Given the description of an element on the screen output the (x, y) to click on. 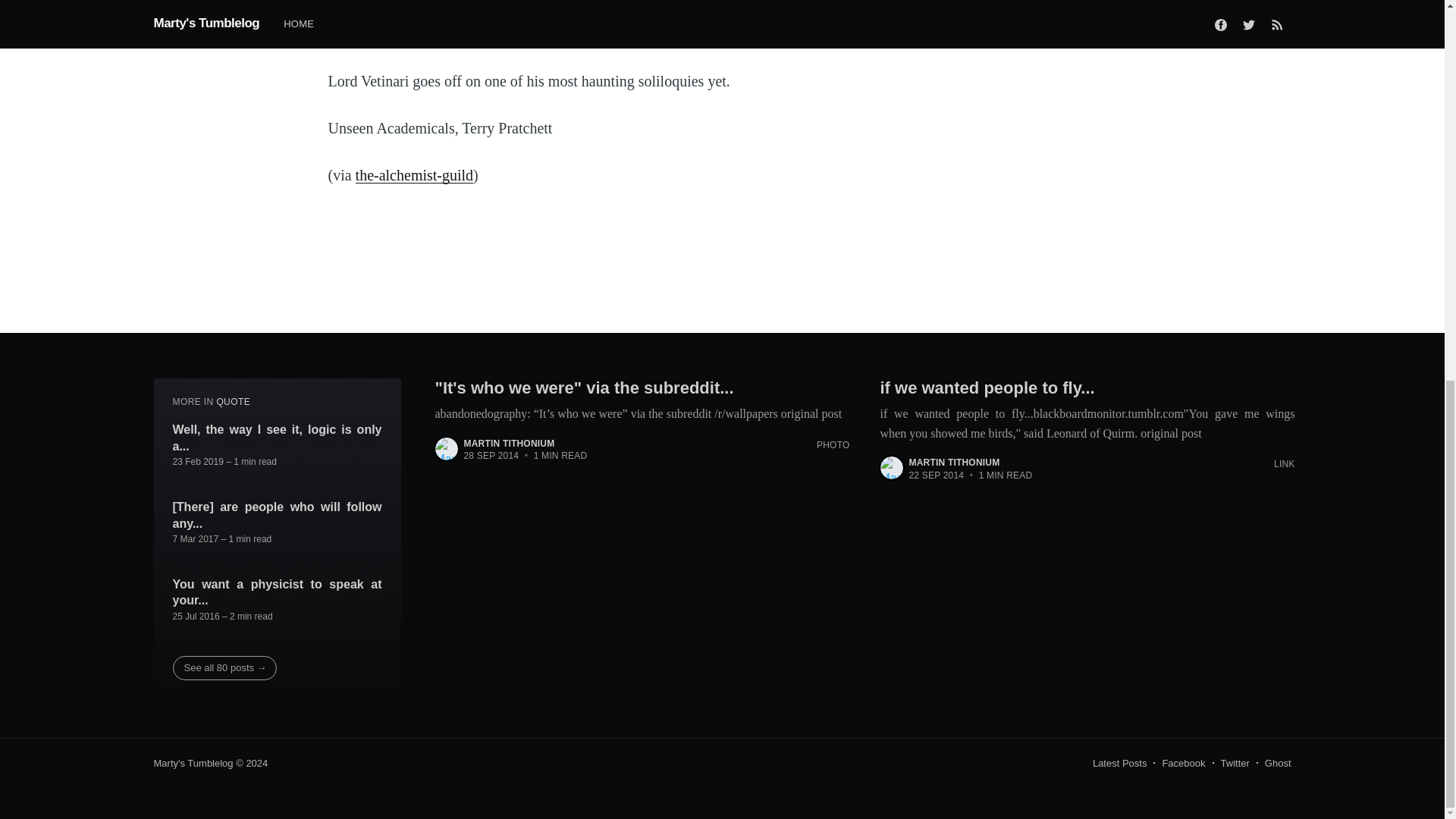
You want a physicist to speak at your... (277, 592)
the-alchemist-guild (414, 175)
Latest Posts (1120, 763)
Marty's Tumblelog (192, 763)
MARTIN TITHONIUM (509, 443)
Ghost (1278, 763)
Twitter (1235, 763)
MARTIN TITHONIUM (953, 462)
Well, the way I see it, logic is only a... (277, 437)
Facebook (1183, 763)
QUOTE (232, 401)
